Given the description of an element on the screen output the (x, y) to click on. 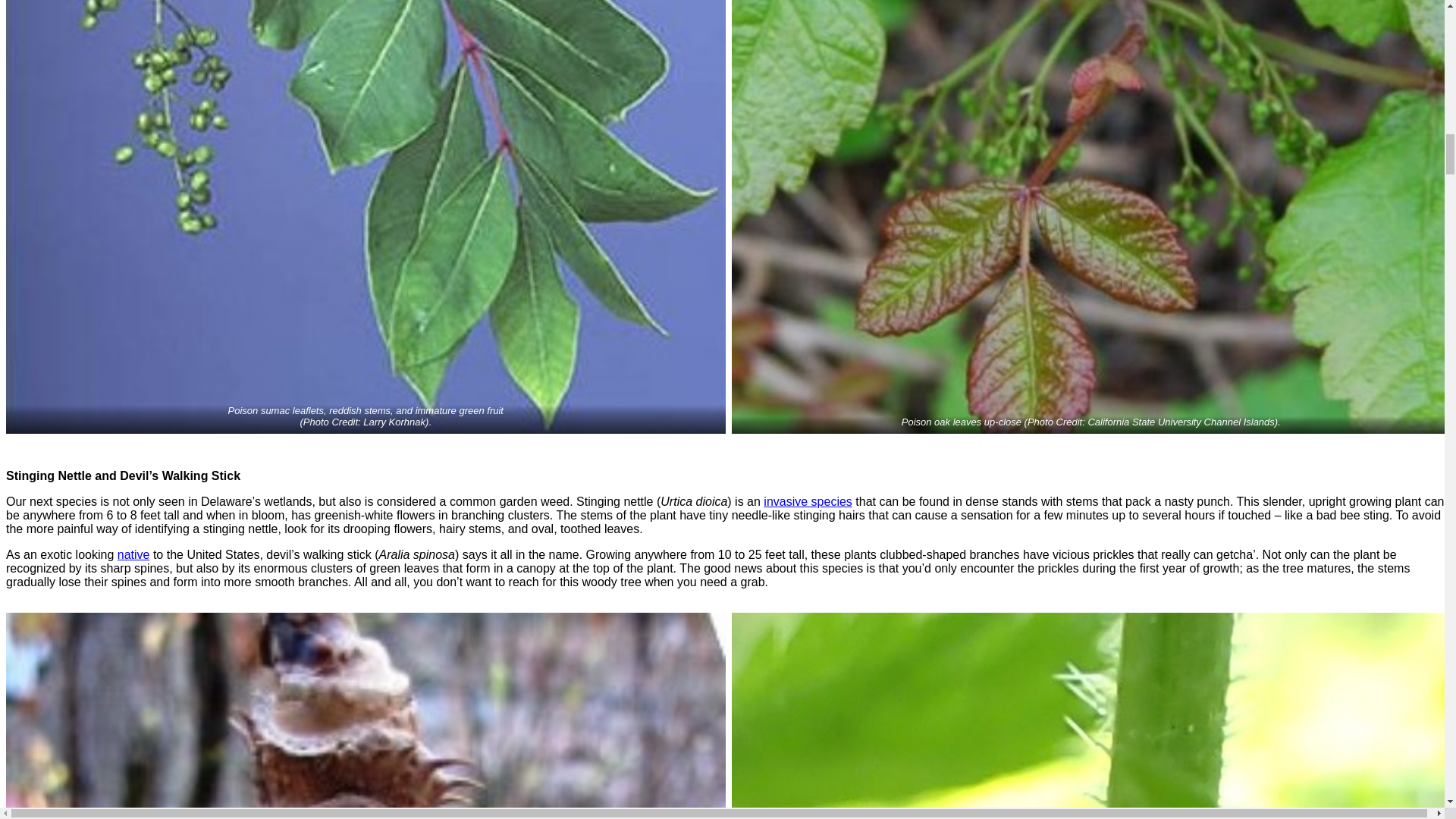
native (133, 554)
invasive species (806, 501)
